Given the description of an element on the screen output the (x, y) to click on. 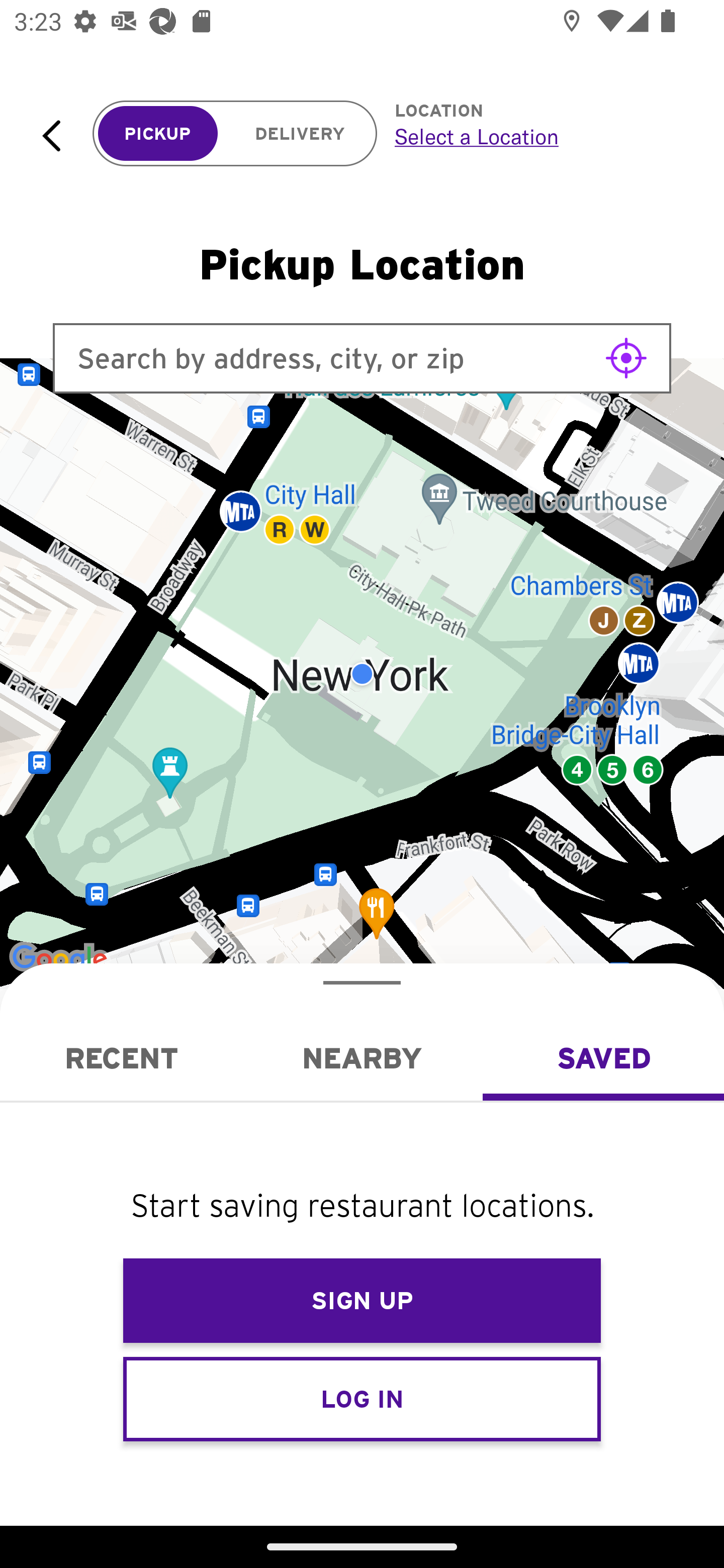
PICKUP (157, 133)
DELIVERY (299, 133)
Select a Location (536, 136)
Search by address, city, or zip (361, 358)
Google Map (362, 674)
Recent RECENT (120, 1058)
Nearby NEARBY (361, 1058)
SIGN UP (361, 1300)
LOG IN (361, 1398)
